Given the description of an element on the screen output the (x, y) to click on. 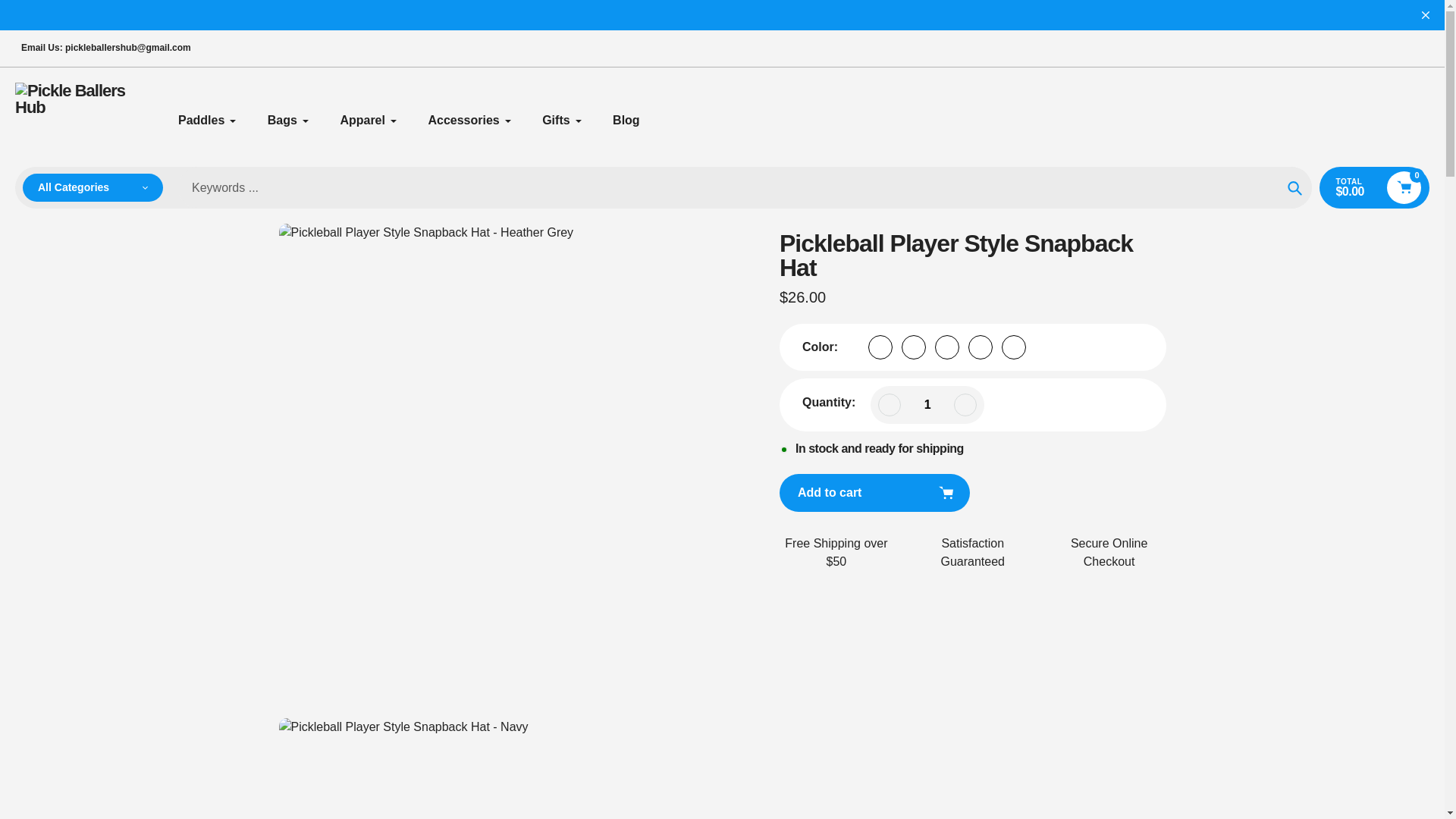
Bags (288, 120)
Paddles (207, 120)
1 (927, 404)
